Given the description of an element on the screen output the (x, y) to click on. 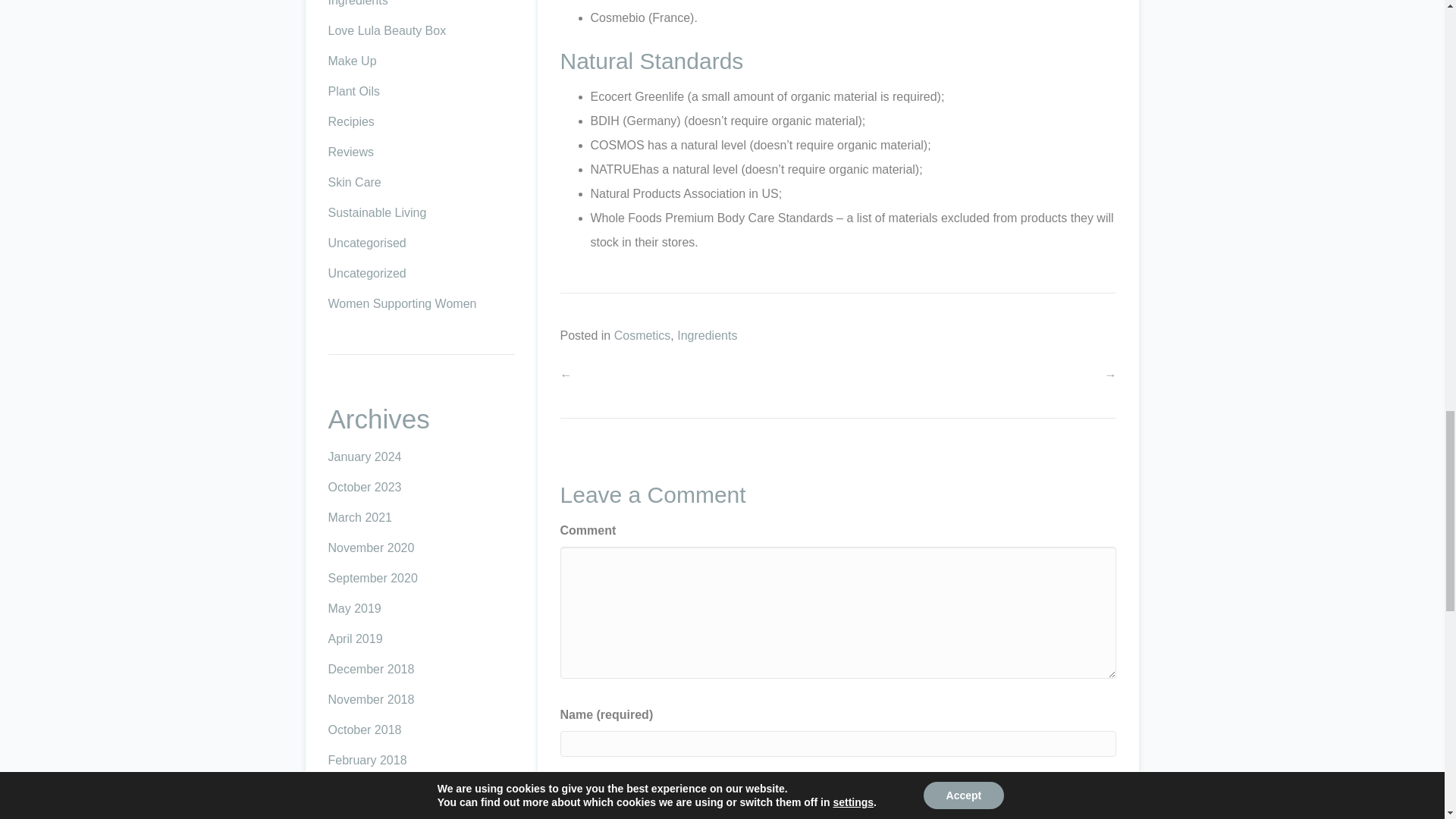
Reviews (349, 151)
Recipies (350, 121)
Sustainable Living (376, 212)
Love Lula Beauty Box (386, 30)
Ingredients (357, 3)
Skin Care (353, 182)
Plant Oils (352, 91)
Make Up (351, 60)
